Given the description of an element on the screen output the (x, y) to click on. 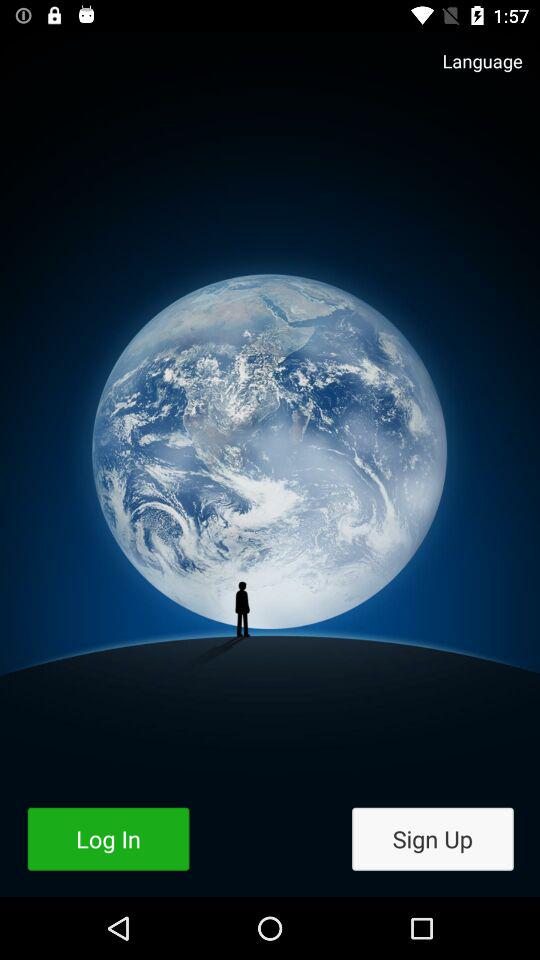
turn off language icon (472, 70)
